Given the description of an element on the screen output the (x, y) to click on. 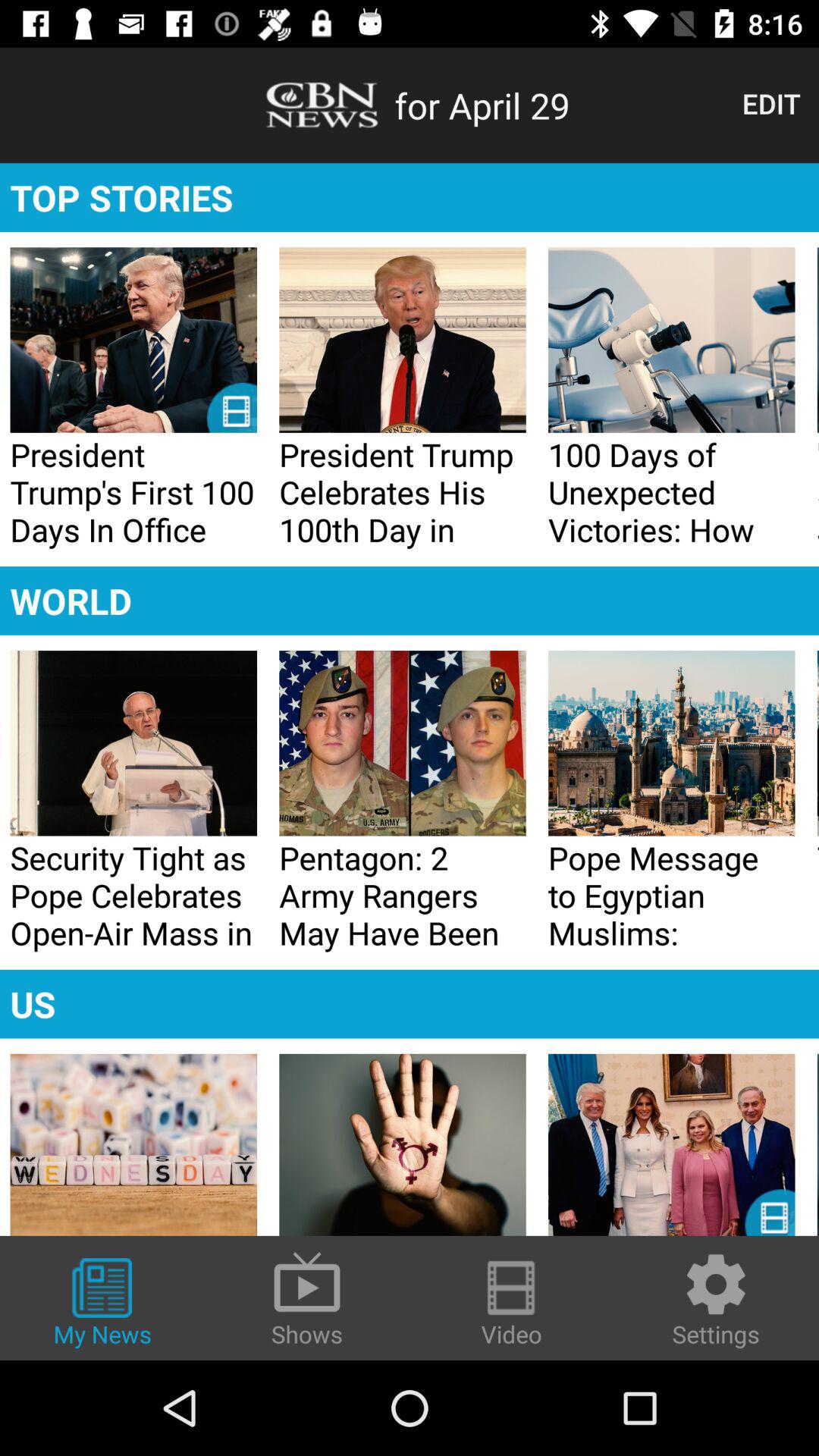
press item next to video item (715, 1299)
